Given the description of an element on the screen output the (x, y) to click on. 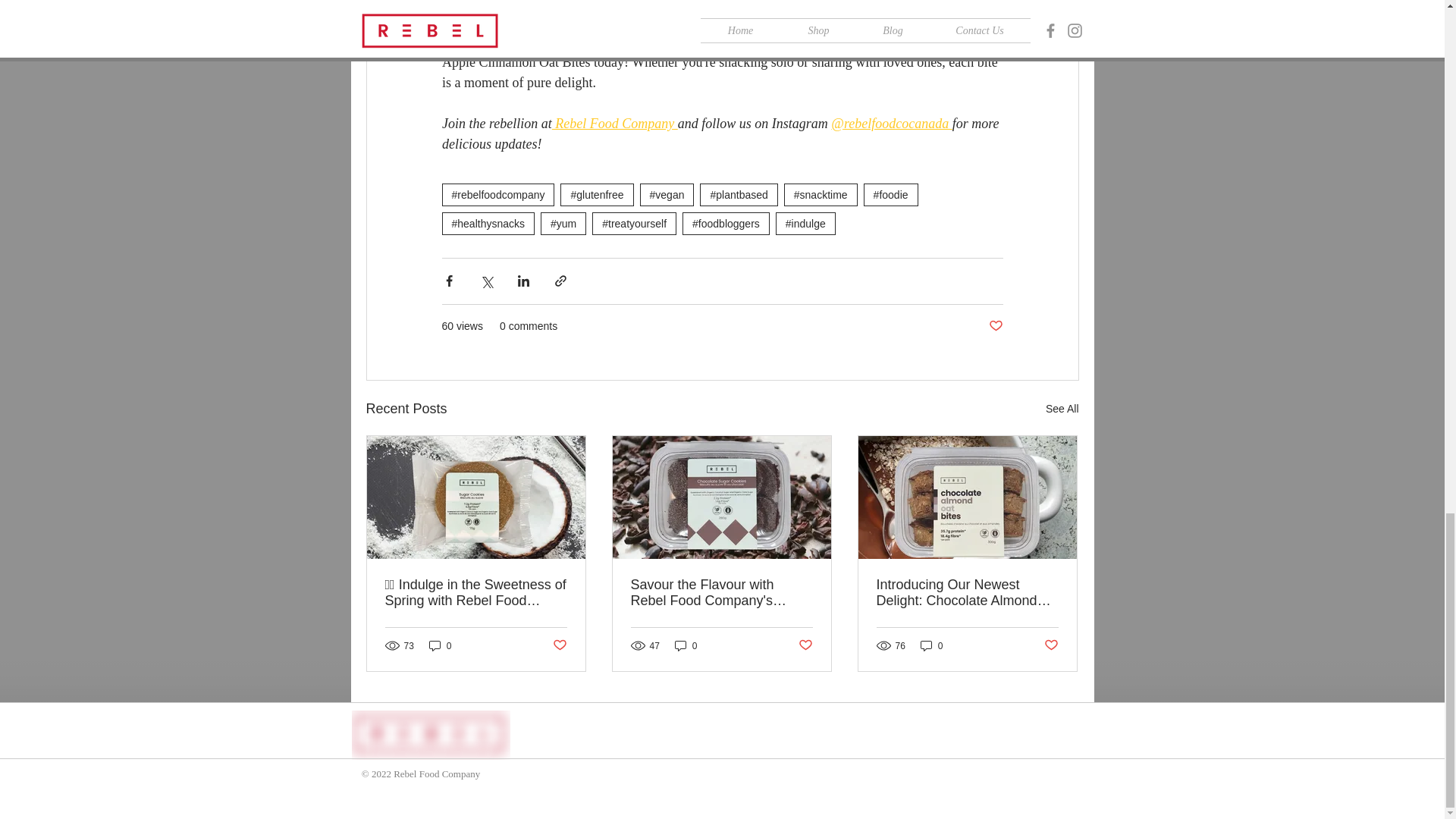
0 (440, 645)
See All (1061, 409)
rebelfoodcocanada  (897, 123)
Post not marked as liked (558, 645)
Post not marked as liked (995, 326)
 Rebel Food Company  (614, 123)
